Given the description of an element on the screen output the (x, y) to click on. 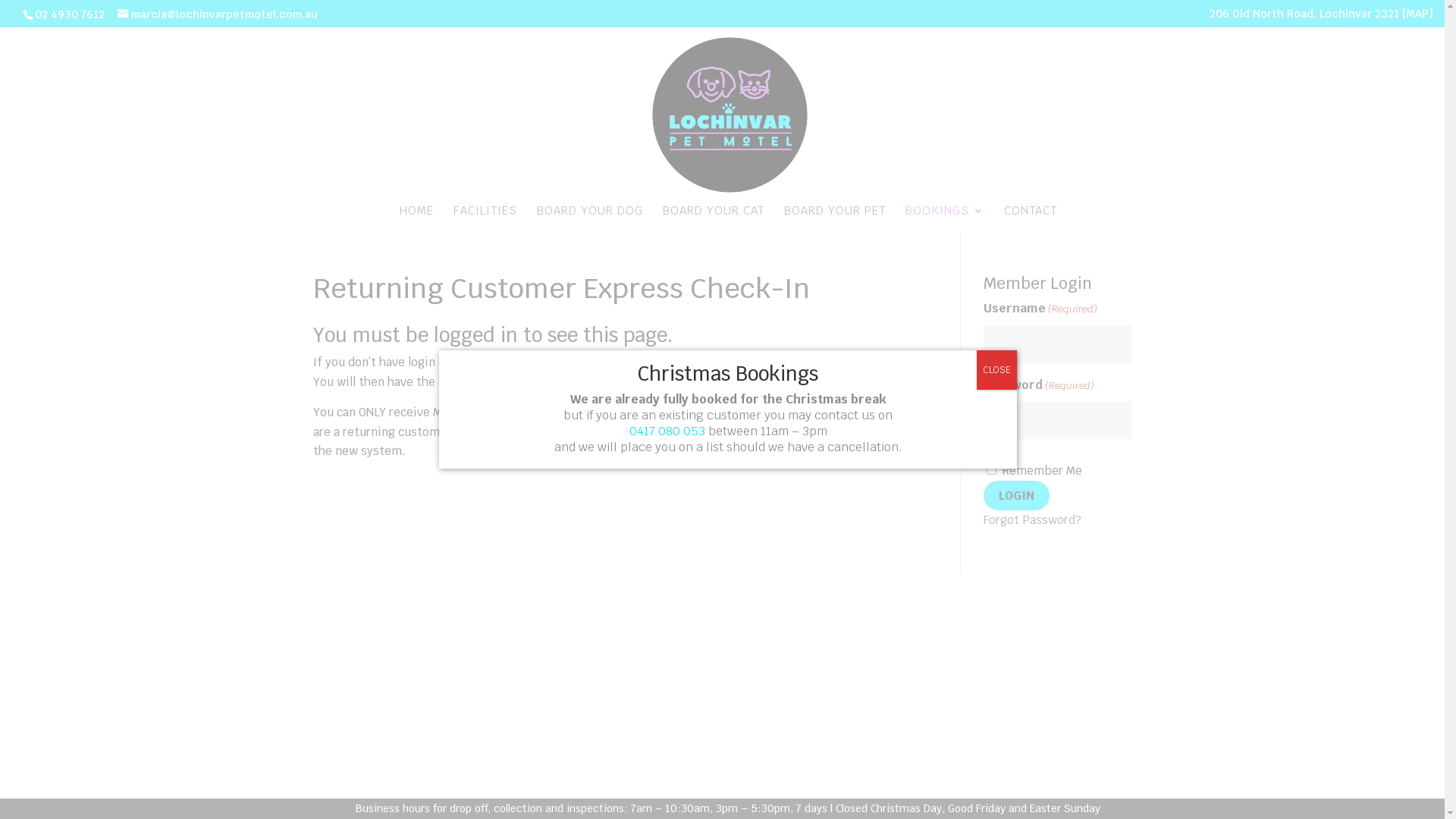
BOARD YOUR CAT Element type: text (713, 218)
BOARD YOUR PET Element type: text (834, 218)
Login Element type: text (1016, 495)
CLOSE Element type: text (996, 369)
NEW CUSTOMER EXPRESS FORM Element type: text (751, 411)
Forgot Password? Element type: text (1032, 519)
HOME Element type: text (415, 218)
NEW CUSTOMER EXPRESS FORM Element type: text (654, 361)
0417 080 053 Element type: text (667, 431)
marcia@lochinvarpetmotel.com.au Element type: text (217, 14)
FACILITIES Element type: text (485, 218)
CONTACT Element type: text (1030, 218)
206 Old North Road, Lochinvar 2321 [MAP] Element type: text (1321, 16)
BOOKINGS Element type: text (944, 218)
BOARD YOUR DOG Element type: text (589, 218)
